Given the description of an element on the screen output the (x, y) to click on. 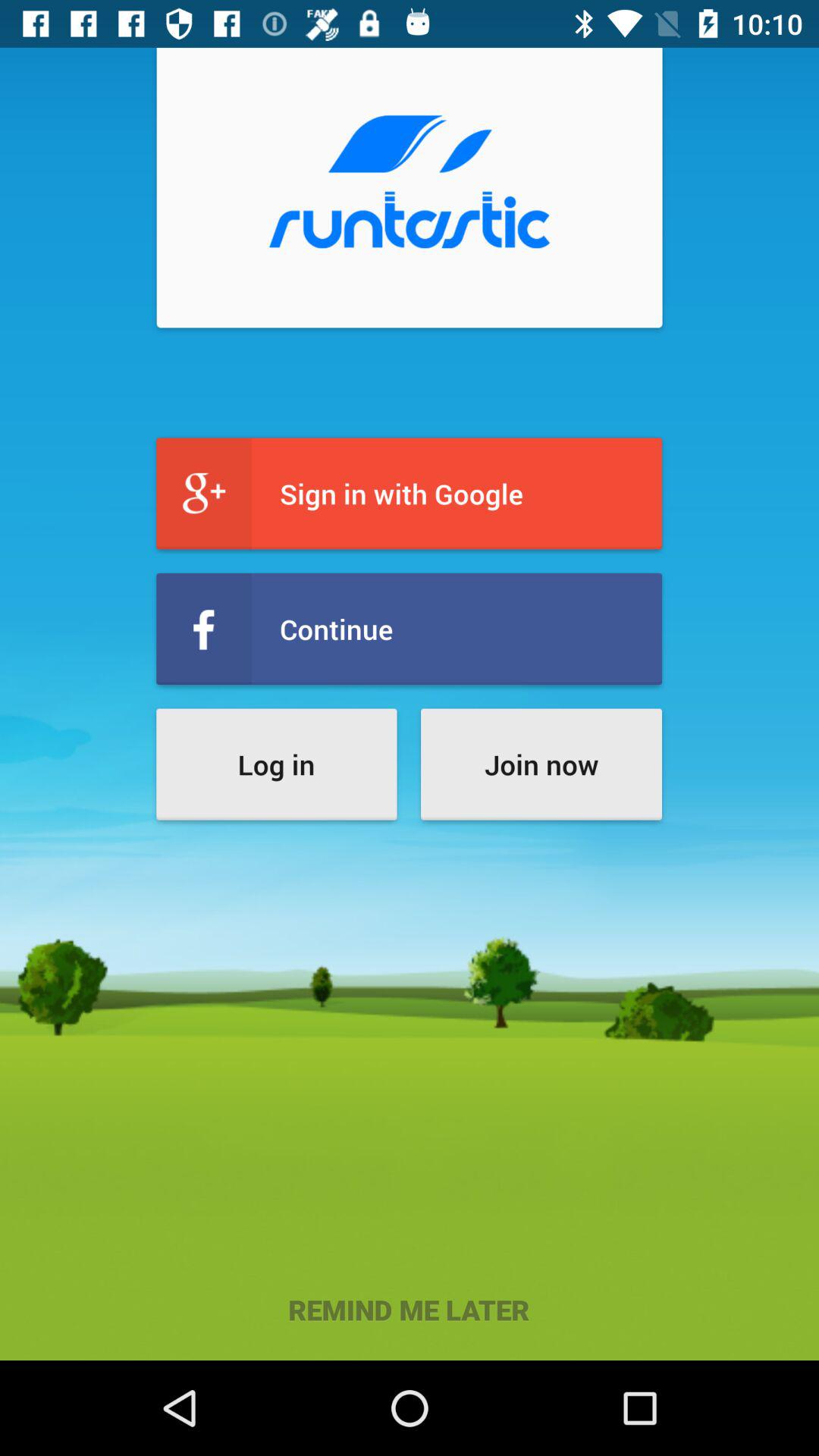
open the remind me later item (409, 1309)
